Given the description of an element on the screen output the (x, y) to click on. 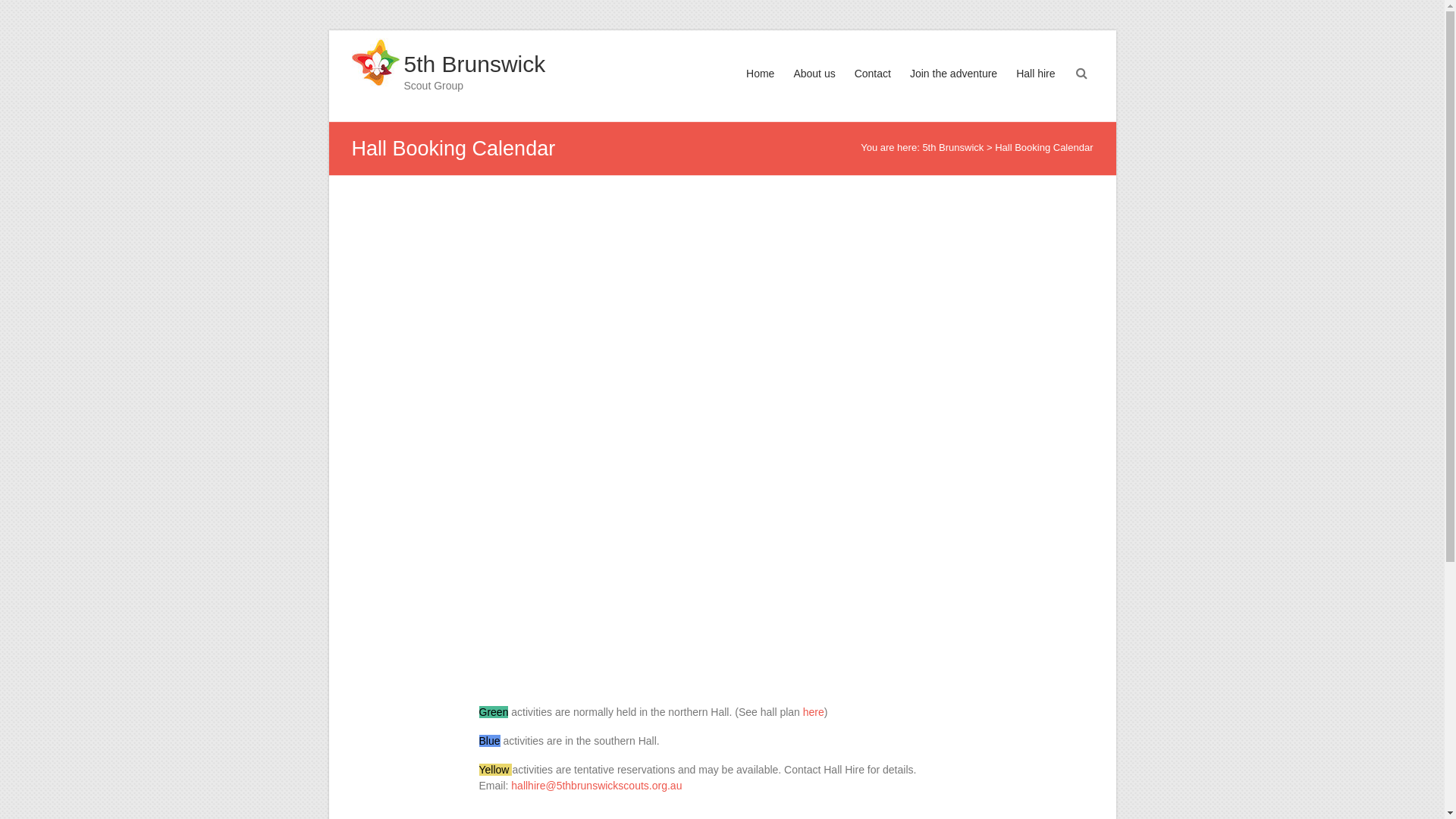
here Element type: text (813, 712)
Skip to content Element type: text (327, 29)
Hall hire Element type: text (1035, 87)
Contact Element type: text (872, 87)
About us Element type: text (813, 87)
Join the adventure Element type: text (953, 87)
5th Brunswick Element type: text (952, 147)
5th Brunswick Element type: text (474, 63)
Home Element type: text (760, 87)
hallhire@5thbrunswickscouts.org.au Element type: text (596, 785)
